Given the description of an element on the screen output the (x, y) to click on. 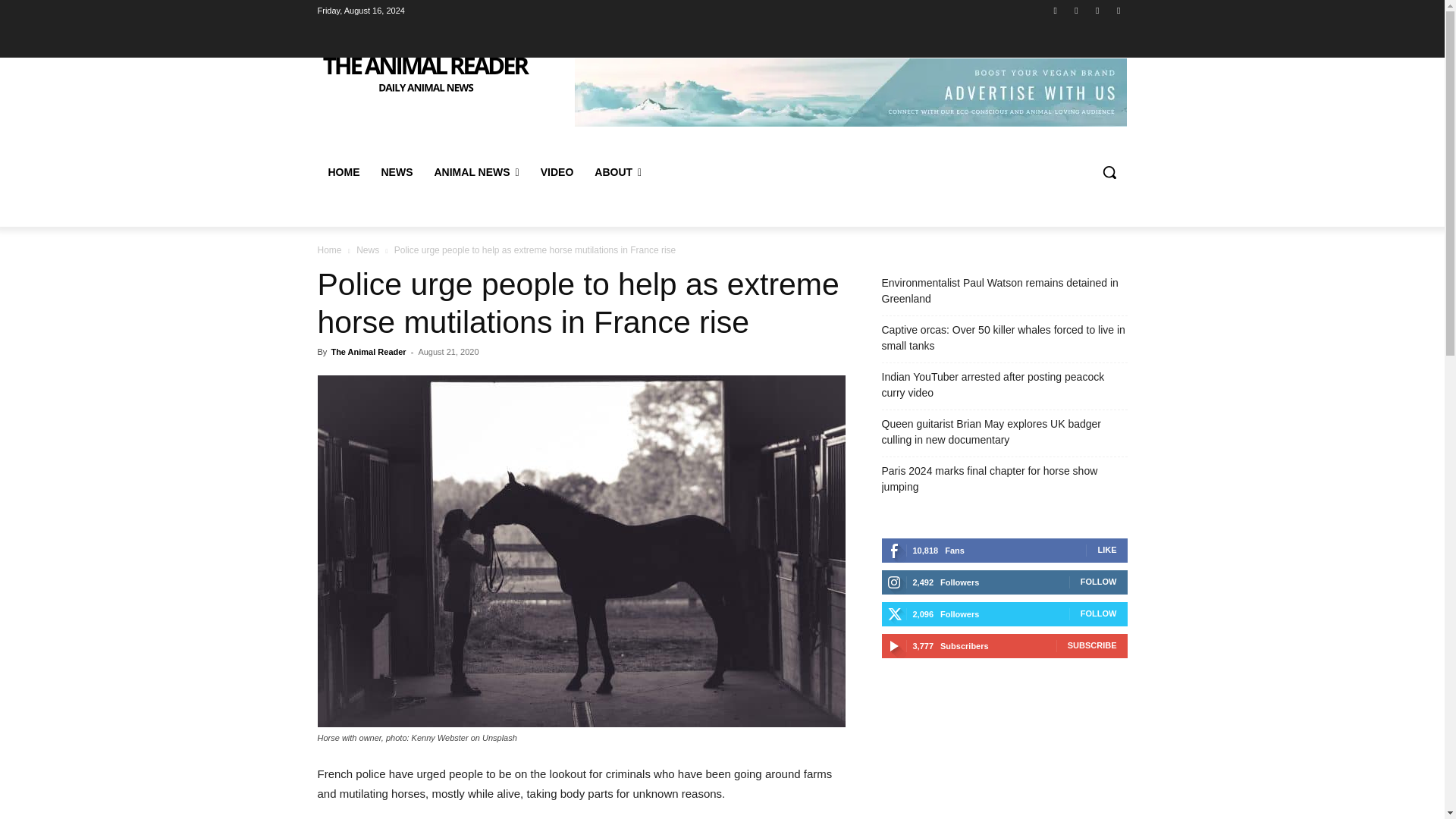
ANIMAL NEWS (476, 171)
HOME (343, 171)
VIDEO (557, 171)
Instagram (1075, 9)
NEWS (396, 171)
View all posts in News (367, 249)
Youtube (1117, 9)
Twitter (1097, 9)
Facebook (1055, 9)
